Given the description of an element on the screen output the (x, y) to click on. 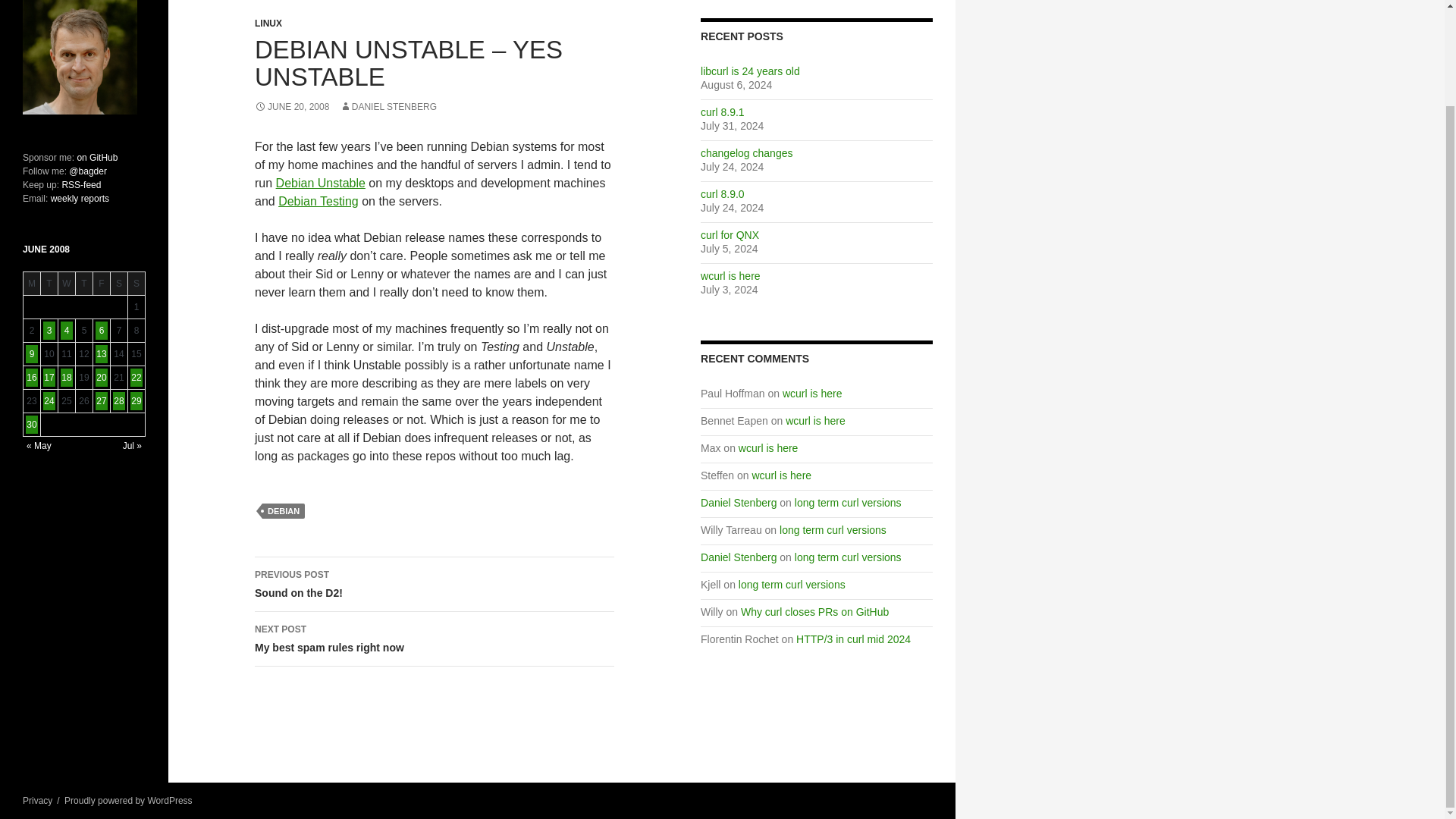
LINUX (268, 23)
RSS-feed (80, 184)
Debian Unstable (320, 182)
wcurl is here (782, 475)
Why curl closes PRs on GitHub (814, 612)
Daniel Stenberg (738, 557)
JUNE 20, 2008 (291, 106)
curl 8.9.1 (722, 111)
weekly reports (434, 584)
